Given the description of an element on the screen output the (x, y) to click on. 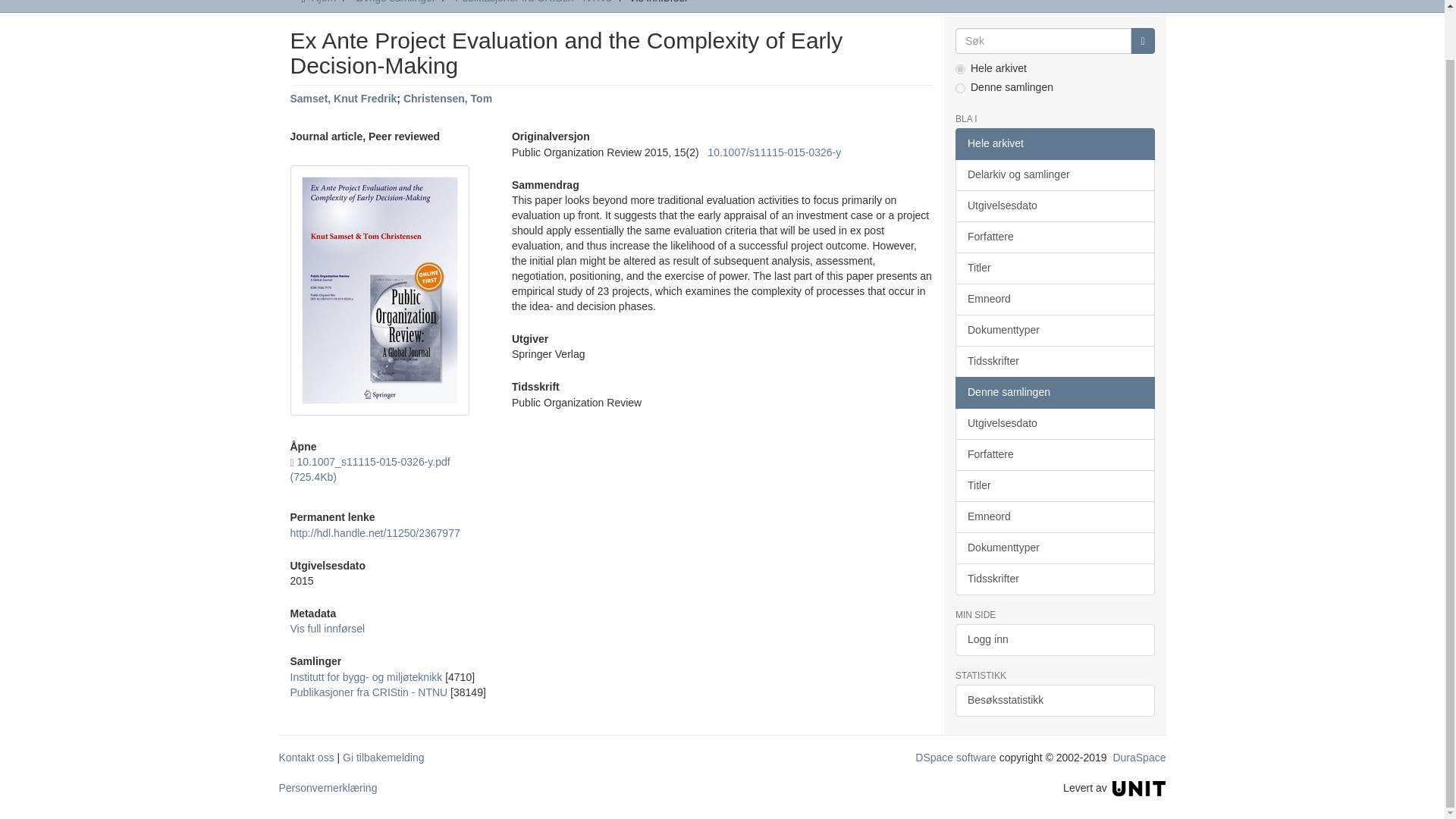
Christensen, Tom (447, 98)
Delarkiv og samlinger (1054, 174)
Samset, Knut Fredrik (342, 98)
Publikasjoner fra CRIStin - NTNU (533, 2)
Unit (1139, 787)
Utgivelsesdato (1054, 205)
Hjem (323, 2)
Forfattere (1054, 237)
Titler (1054, 268)
Hele arkivet (1054, 143)
Publikasjoner fra CRIStin - NTNU (367, 692)
